Given the description of an element on the screen output the (x, y) to click on. 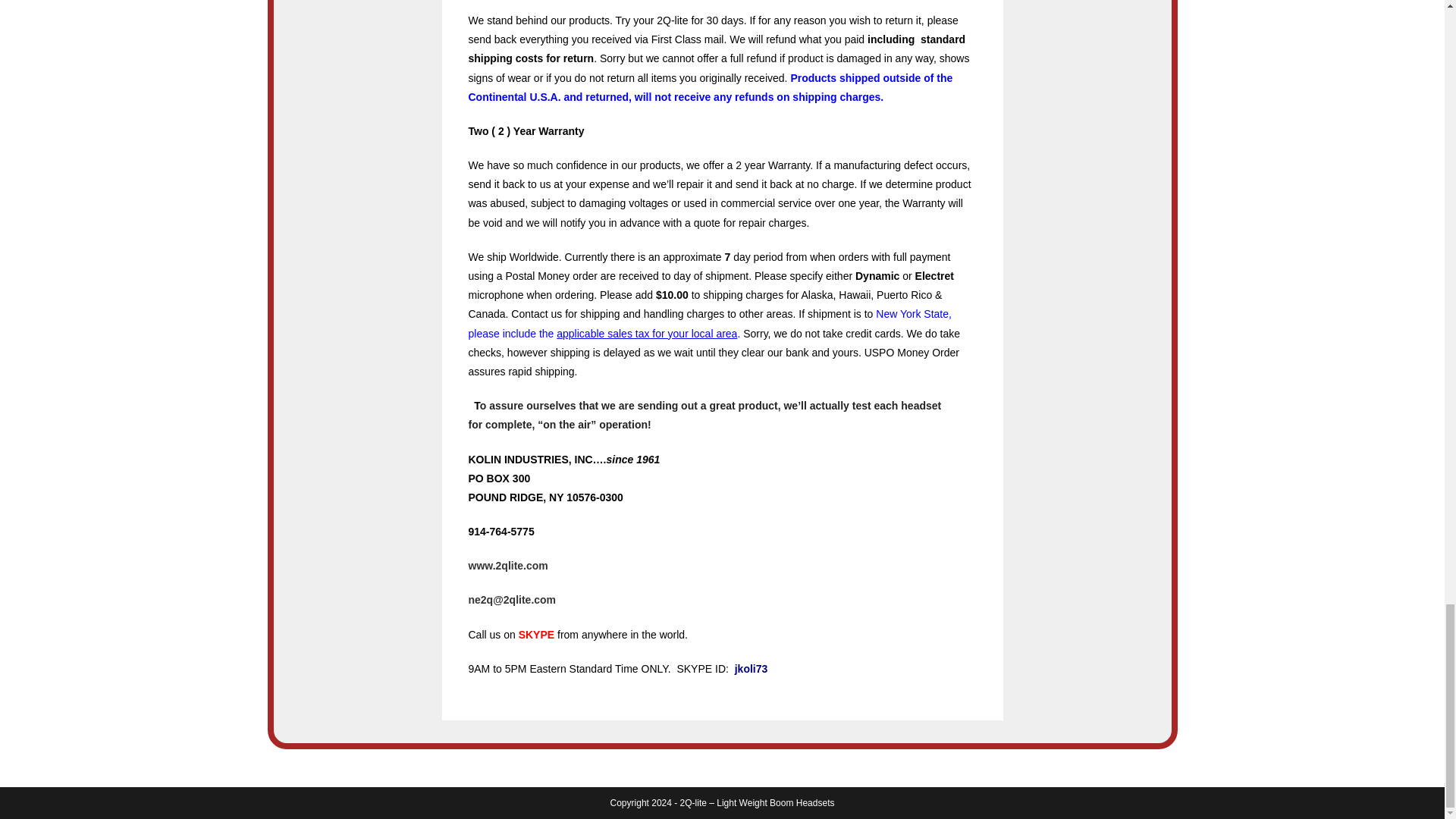
www.2qlite.com (508, 565)
